Given the description of an element on the screen output the (x, y) to click on. 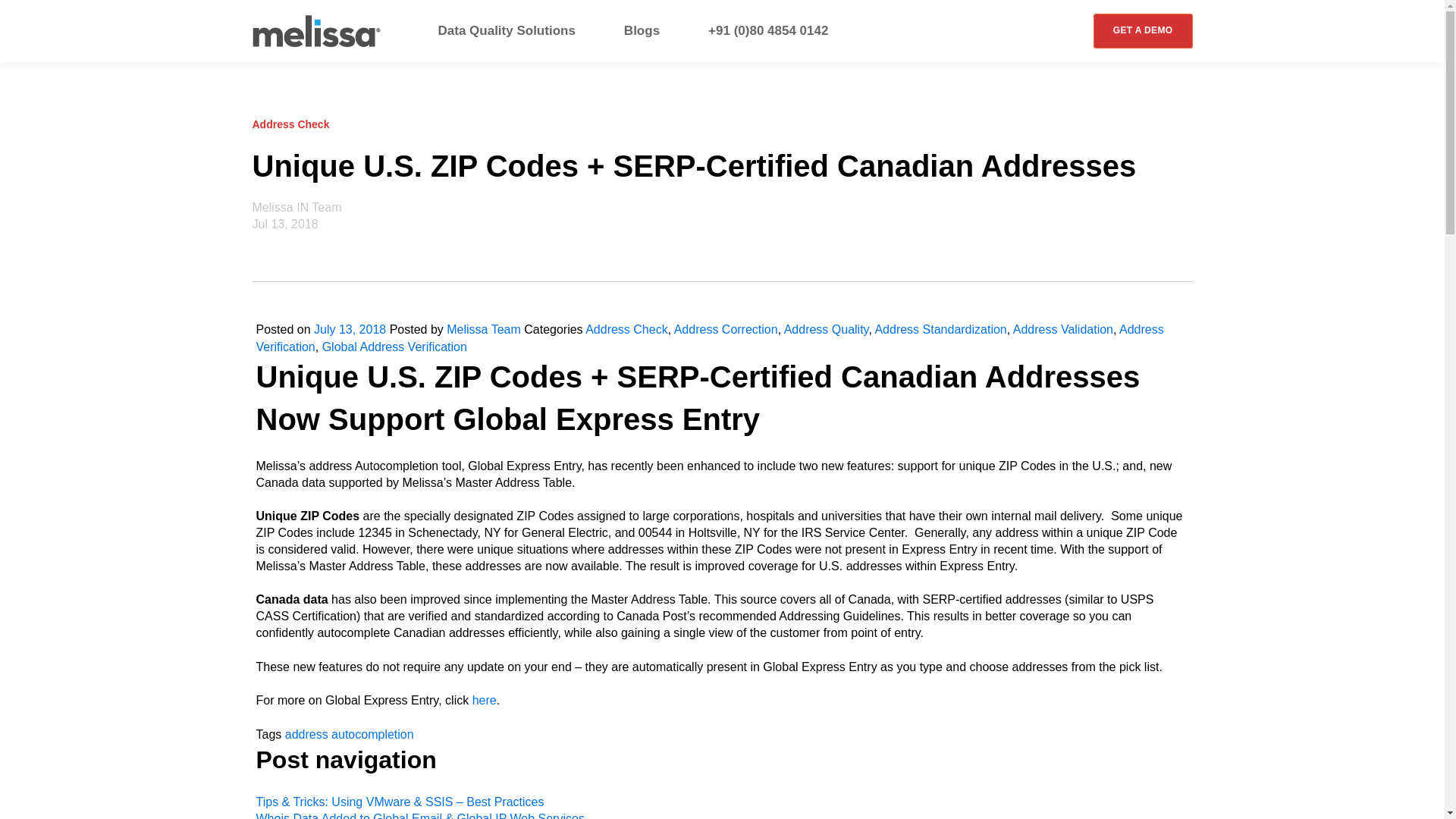
address autocompletion (349, 734)
Melissa IN Team (295, 206)
Data Quality Solutions (506, 30)
Address Standardization (940, 328)
Melissa Team (483, 328)
Global Address Verification (394, 346)
Address Validation (1063, 328)
Blogs (641, 30)
Address Correction (725, 328)
GET A DEMO (1142, 30)
July 13, 2018 (349, 328)
Address Verification (709, 337)
here (483, 699)
Address Quality (826, 328)
Address Check (626, 328)
